Given the description of an element on the screen output the (x, y) to click on. 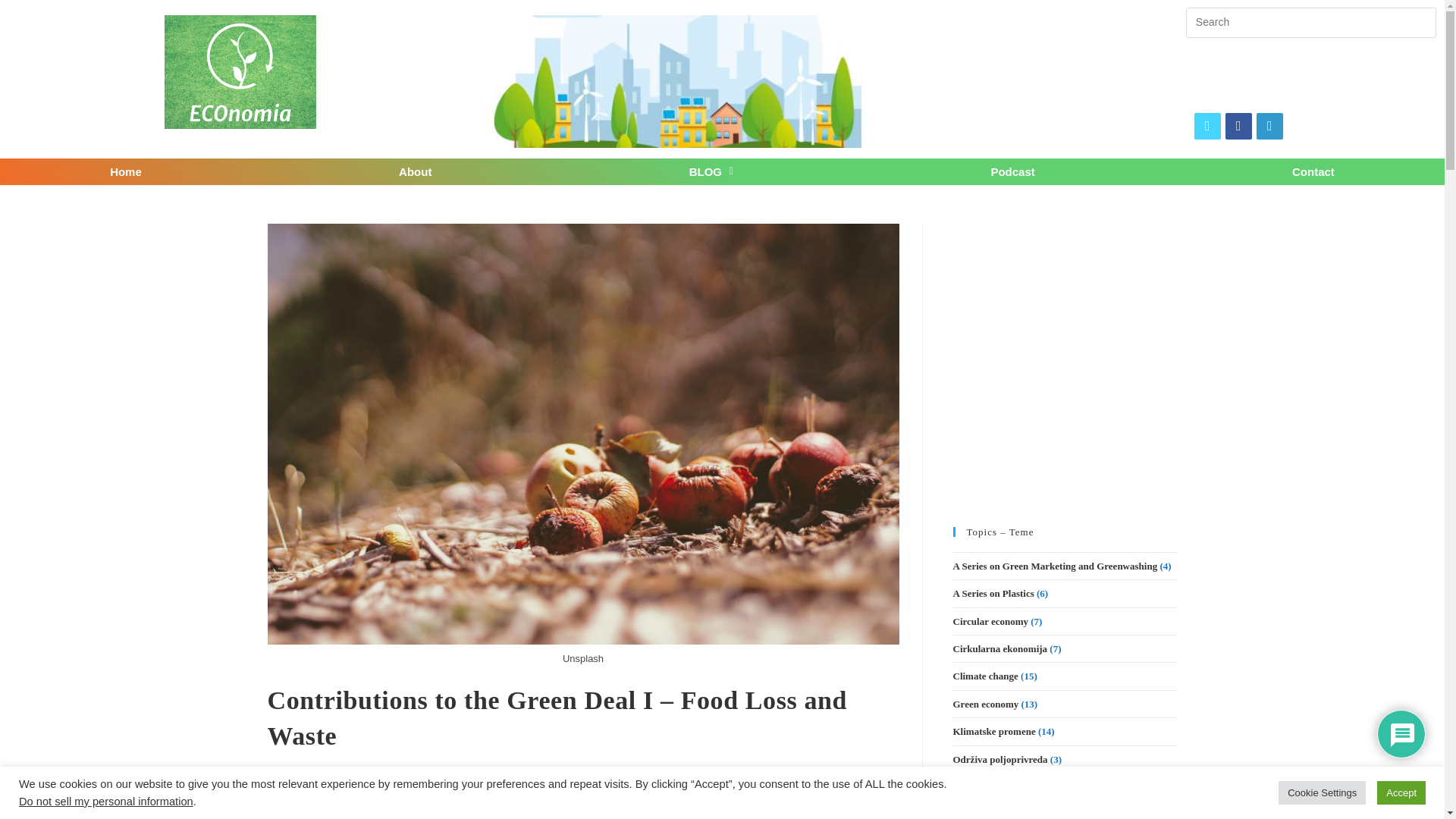
odrzivi razvoj sustainability development (688, 81)
Posts by Danko Kalkan (313, 788)
Podcast (1012, 171)
About (414, 171)
Home (125, 171)
BLOG (711, 171)
